Given the description of an element on the screen output the (x, y) to click on. 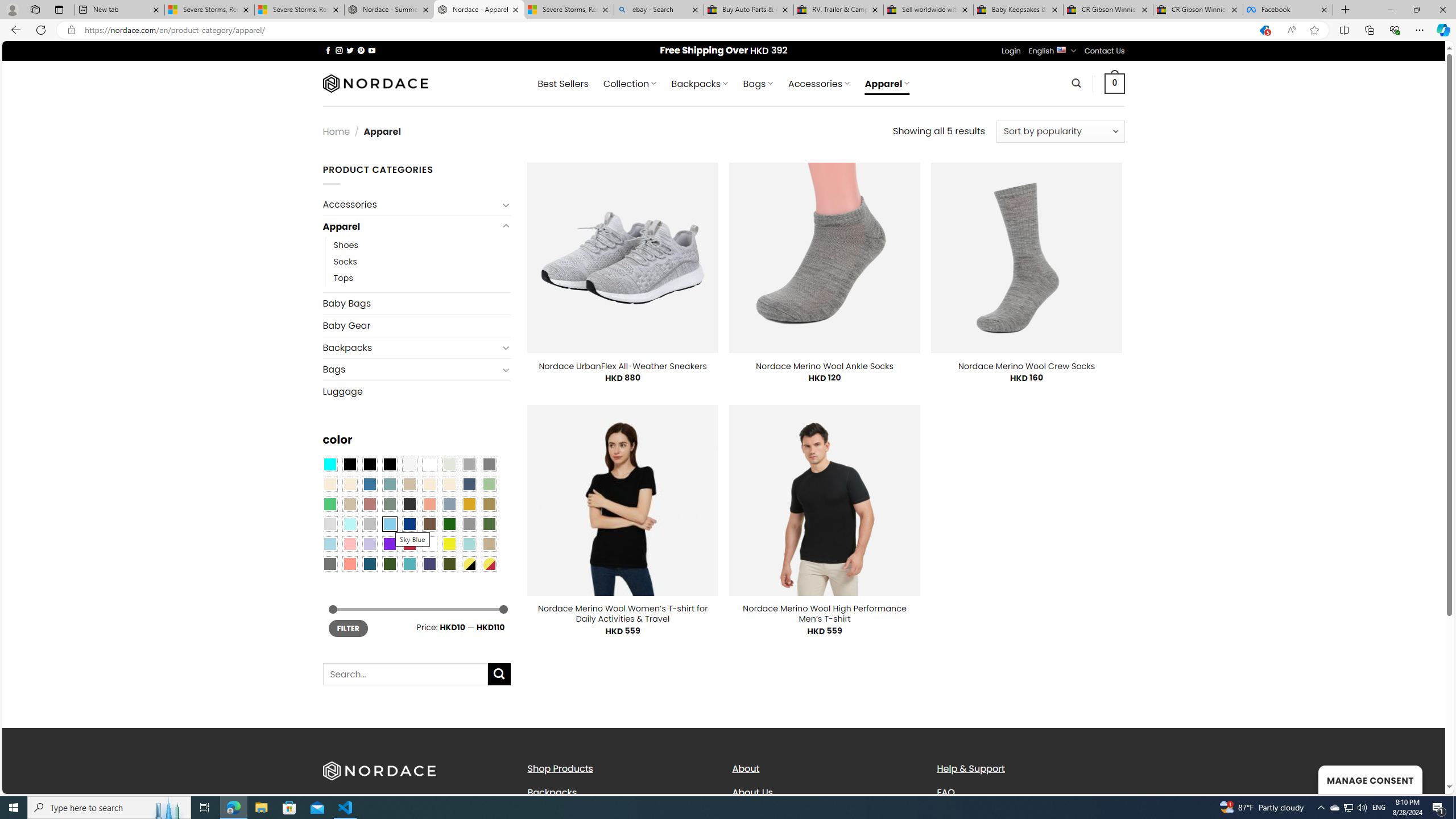
Nordace Merino Wool Ankle Socks (824, 365)
Silver (369, 523)
FILTER (347, 628)
Hale Navy (468, 483)
Nordace - Apparel (478, 9)
Brown (429, 523)
FAQ (945, 792)
Luggage (416, 391)
Bags (410, 369)
Tops (422, 278)
Capri Blue (369, 563)
Brownie (408, 483)
